Given the description of an element on the screen output the (x, y) to click on. 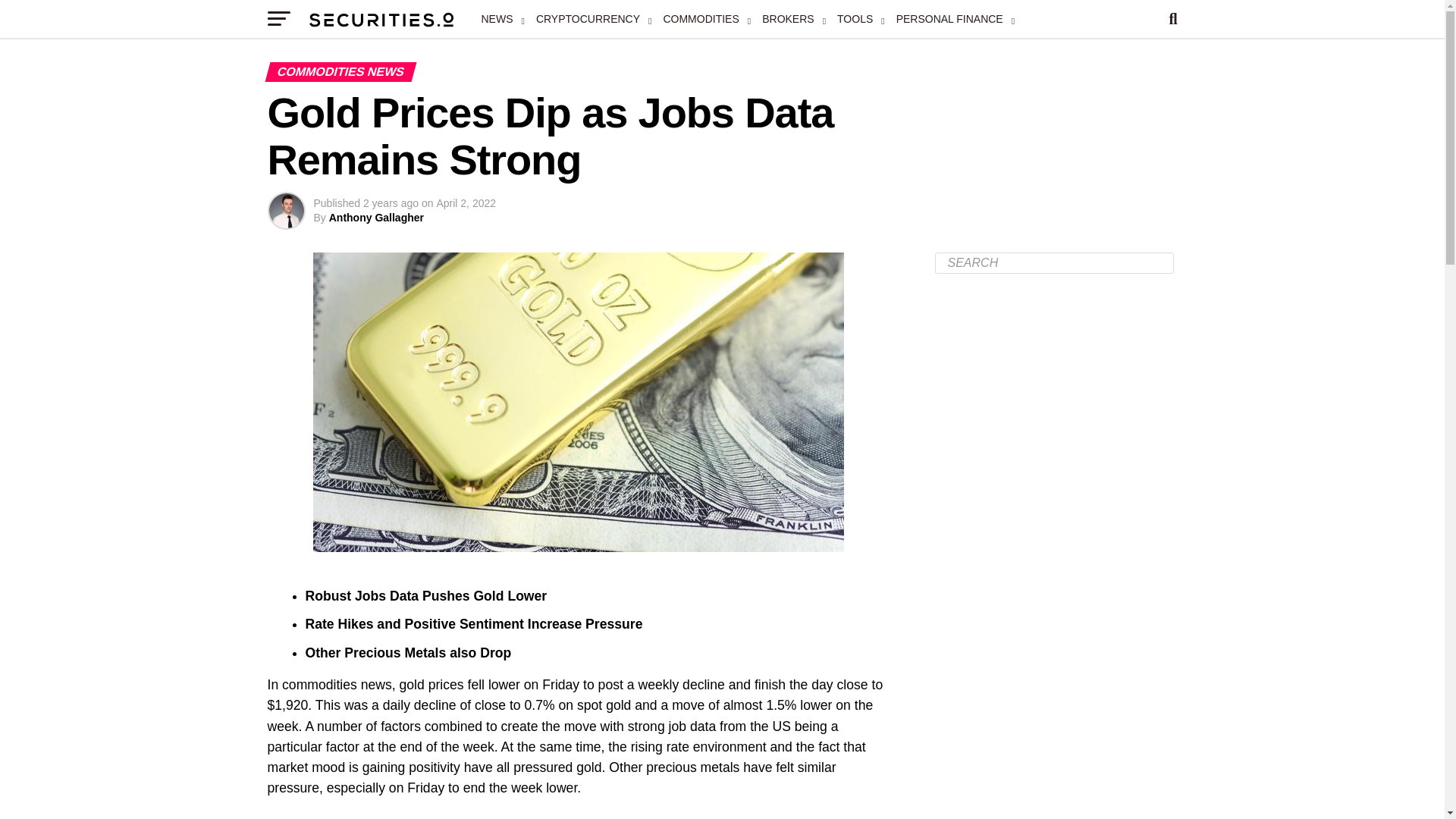
Search (1053, 262)
Posts by Anthony Gallagher (376, 217)
